Given the description of an element on the screen output the (x, y) to click on. 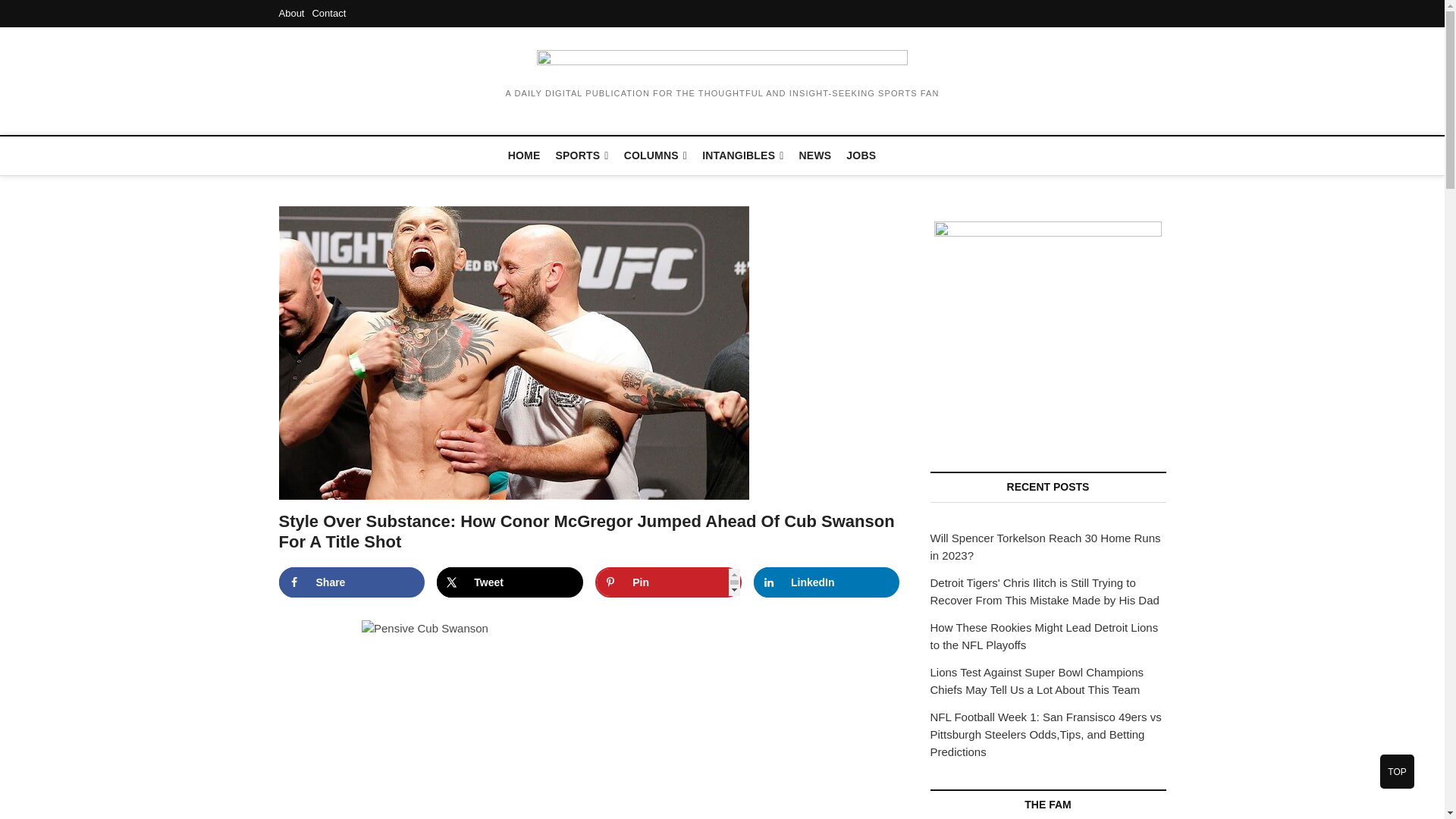
Share on LinkedIn (826, 582)
NEWS (816, 155)
Save to Pinterest (668, 582)
Share on Facebook (352, 582)
COLUMNS (655, 155)
About (291, 12)
Share on X (509, 582)
Tweet (509, 582)
Share (352, 582)
INTANGIBLES (742, 155)
